Given the description of an element on the screen output the (x, y) to click on. 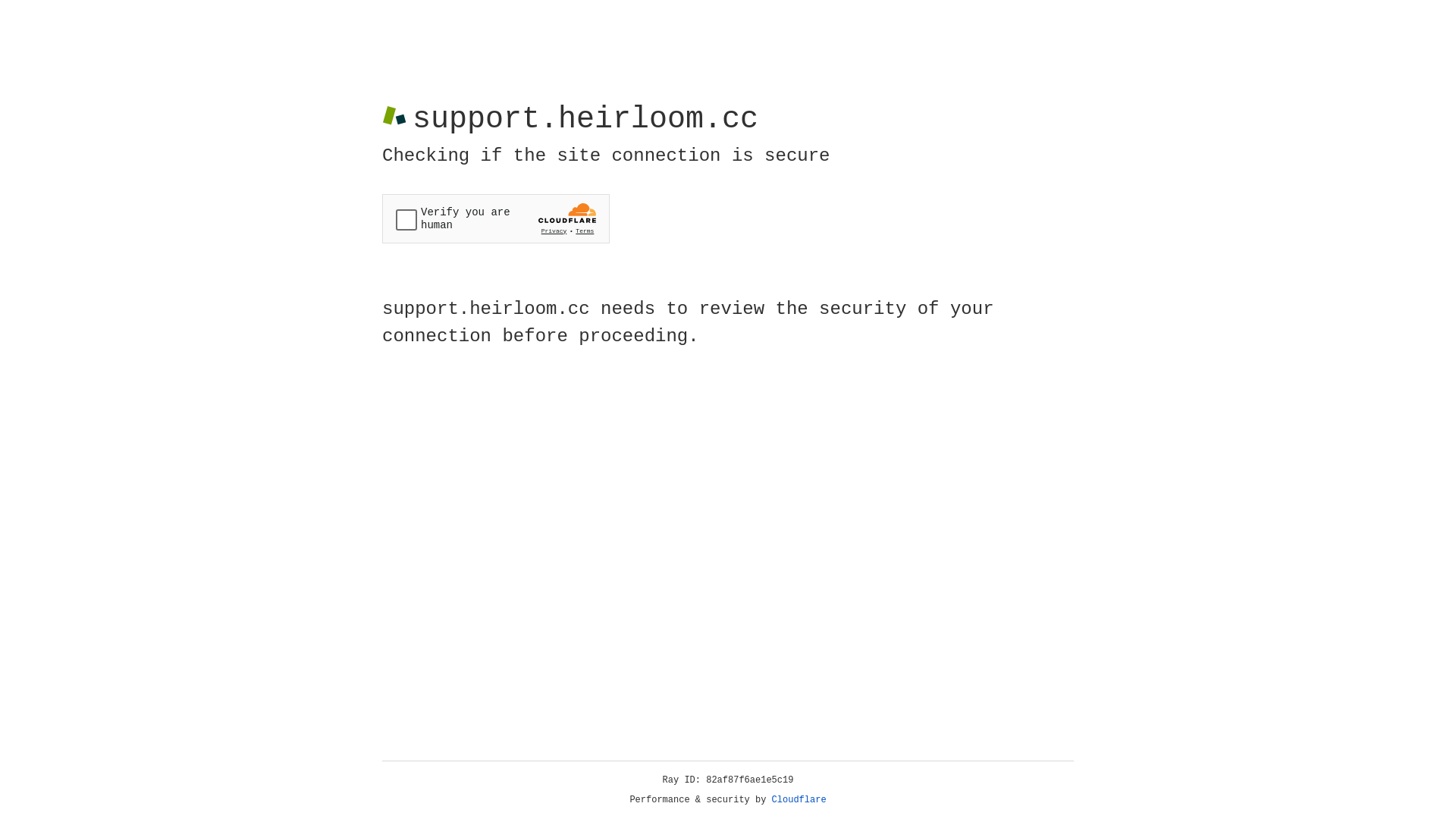
Cloudflare Element type: text (798, 799)
Widget containing a Cloudflare security challenge Element type: hover (495, 218)
